Given the description of an element on the screen output the (x, y) to click on. 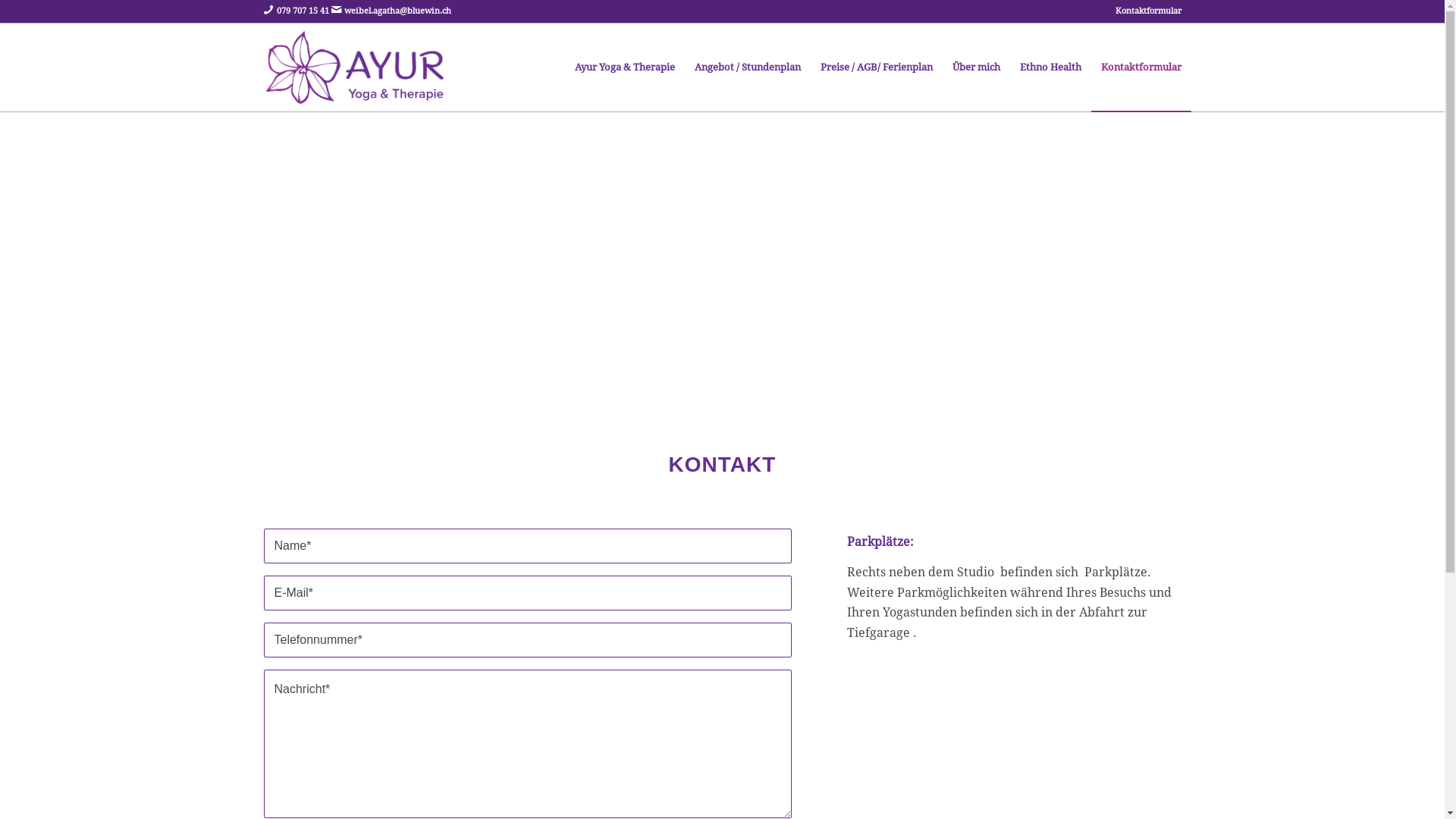
weibel.agatha@bluewin.ch Element type: text (397, 10)
Kontaktformular Element type: text (1147, 10)
Ayur Yoga & Therapie Element type: text (624, 67)
Preise / AGB/ Ferienplan Element type: text (875, 67)
Angebot / Stundenplan Element type: text (746, 67)
Ethno Health Element type: text (1050, 67)
079 707 15 41 Element type: text (302, 10)
Kontaktformular Element type: text (1135, 67)
